Given the description of an element on the screen output the (x, y) to click on. 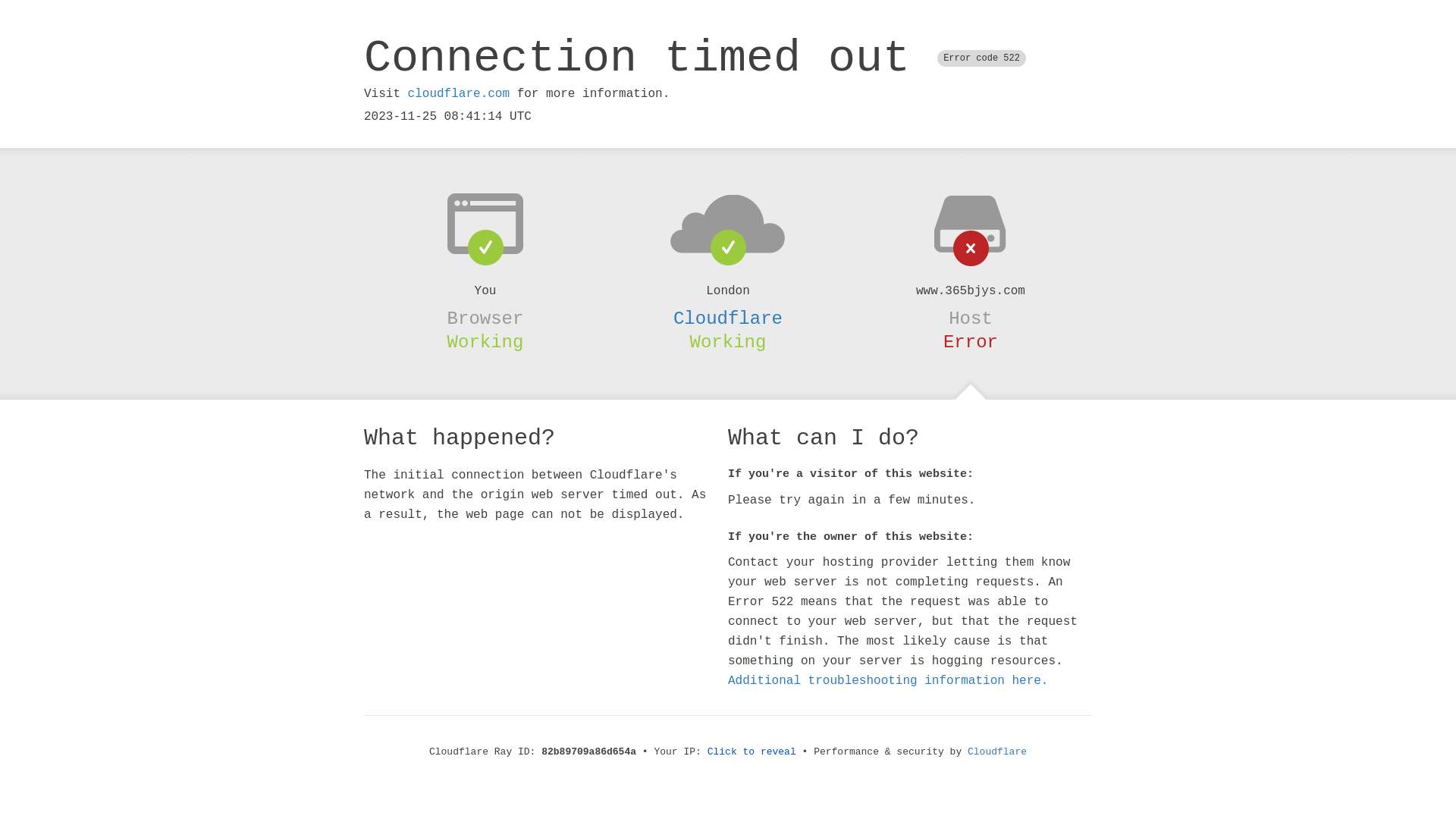
cloudflare.com Element type: text (458, 93)
Cloudflare Element type: text (727, 318)
Cloudflare Element type: text (996, 751)
Additional troubleshooting information here. Element type: text (888, 680)
Click to reveal Element type: text (751, 751)
